Given the description of an element on the screen output the (x, y) to click on. 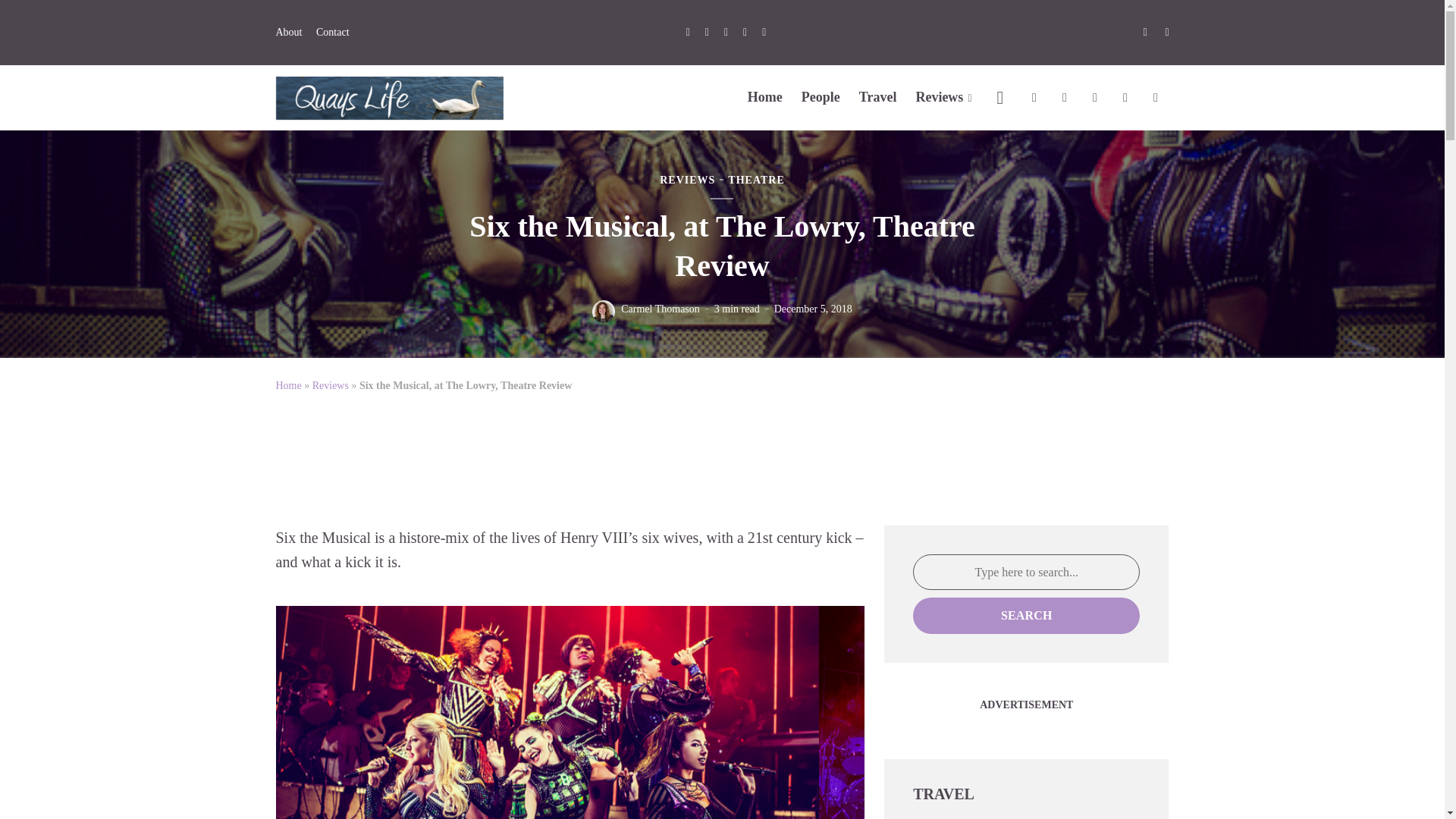
Travel (877, 96)
Advertisement (721, 448)
Home (765, 96)
People (821, 96)
Reviews (943, 96)
